Given the description of an element on the screen output the (x, y) to click on. 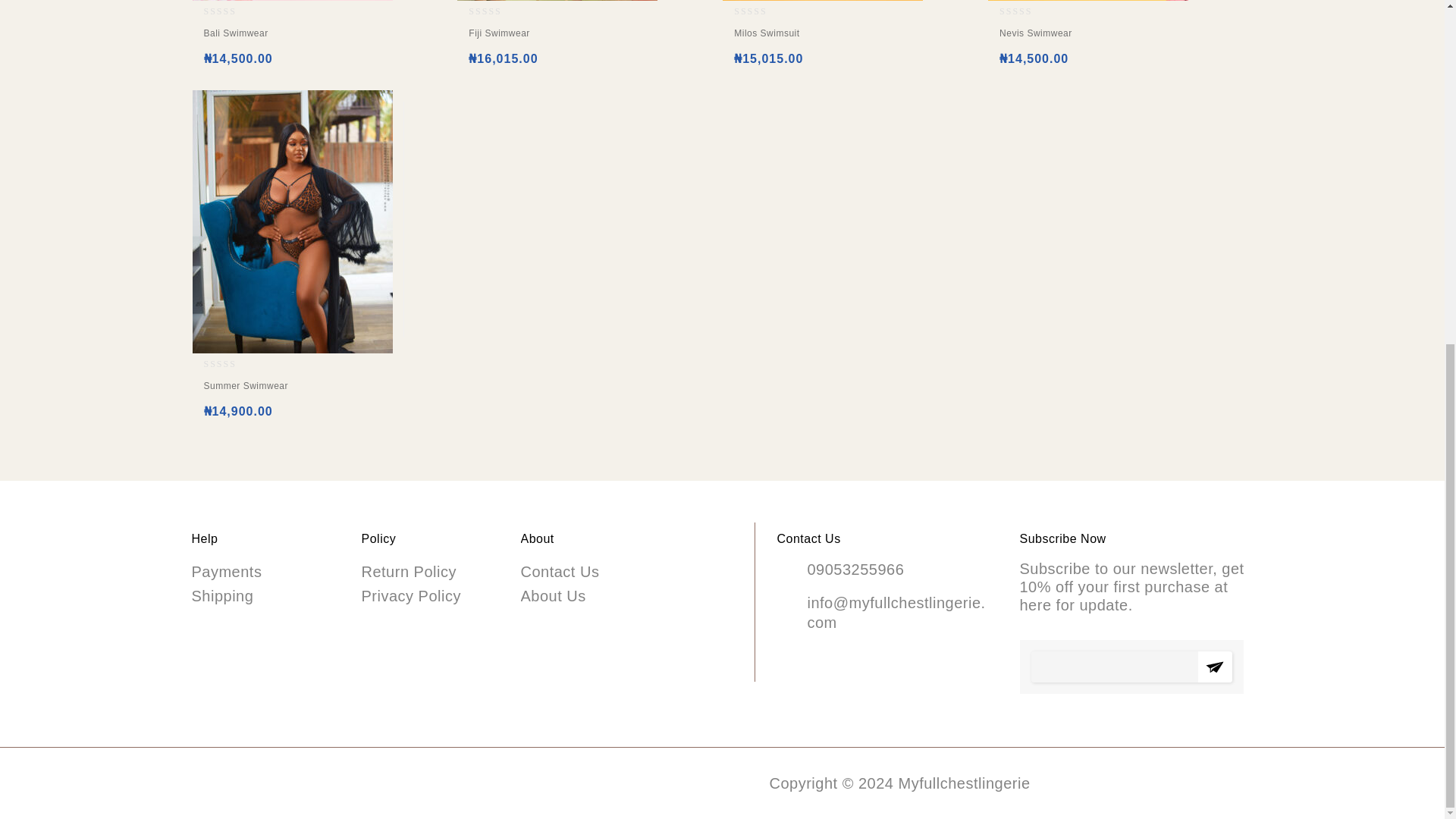
Milos Swimsuit (822, 37)
Subscribe (1214, 666)
Not yet rated (1028, 11)
Not yet rated (232, 11)
Nevis Swimwear (1087, 37)
Not yet rated (762, 11)
Fiji Swimwear (557, 37)
Not yet rated (497, 11)
Bali Swimwear (291, 37)
Not yet rated (232, 364)
